Given the description of an element on the screen output the (x, y) to click on. 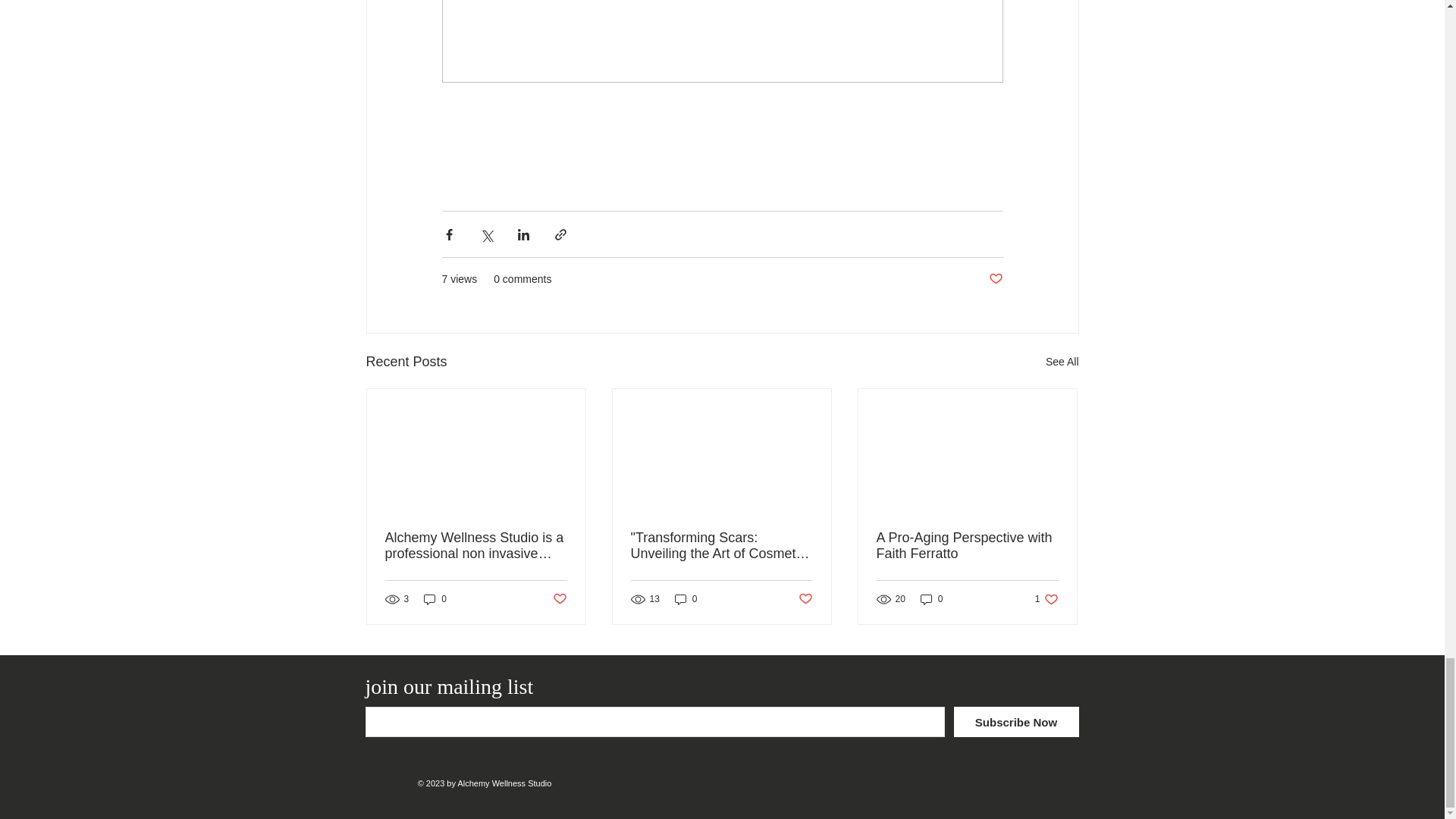
0 (931, 599)
0 (435, 599)
See All (1061, 362)
Subscribe Now (1015, 721)
0 (685, 599)
Post not marked as liked (804, 599)
Post not marked as liked (1046, 599)
A Pro-Aging Perspective with Faith Ferratto (558, 599)
